Given the description of an element on the screen output the (x, y) to click on. 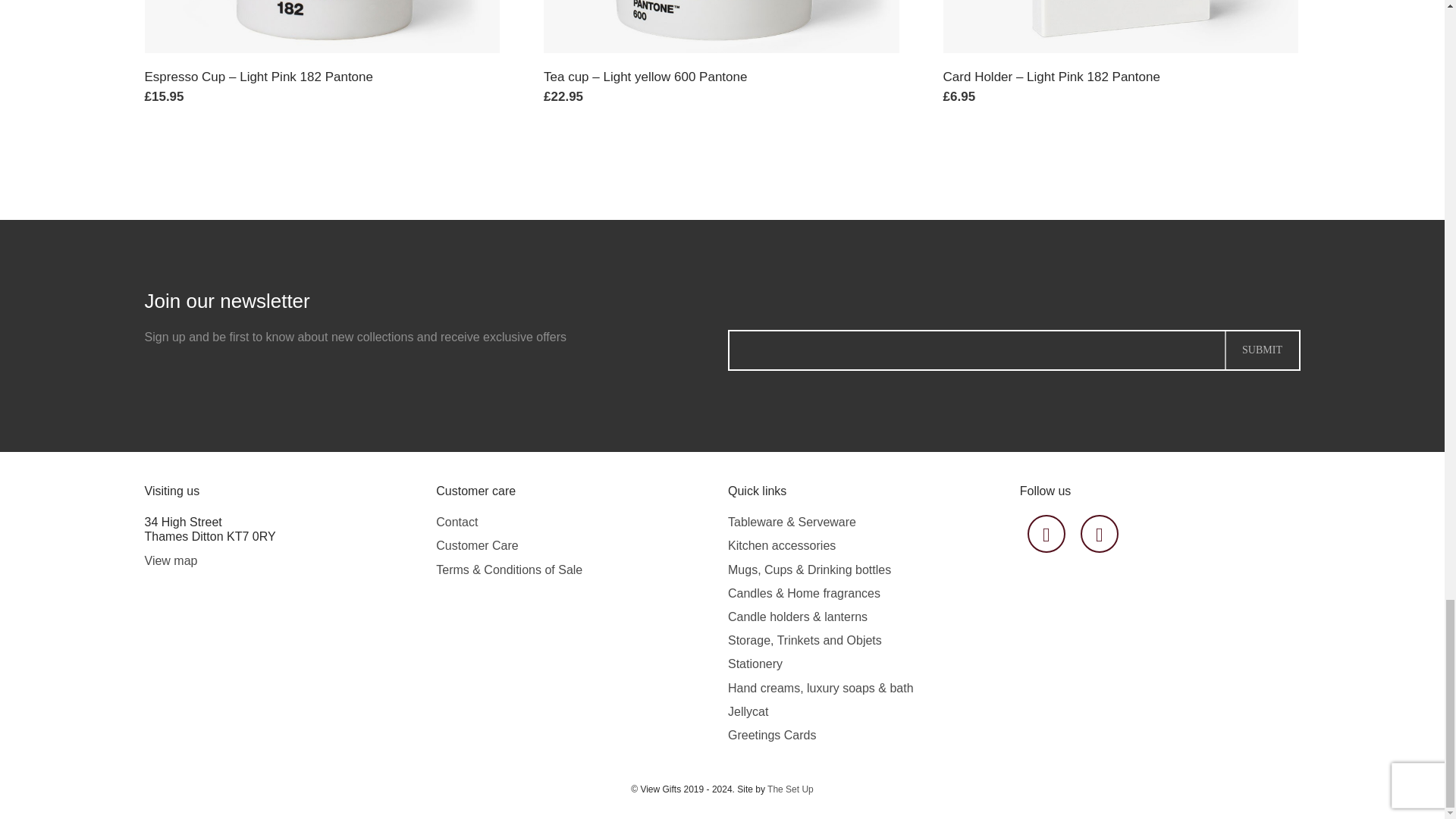
SUBMIT (1262, 350)
